Given the description of an element on the screen output the (x, y) to click on. 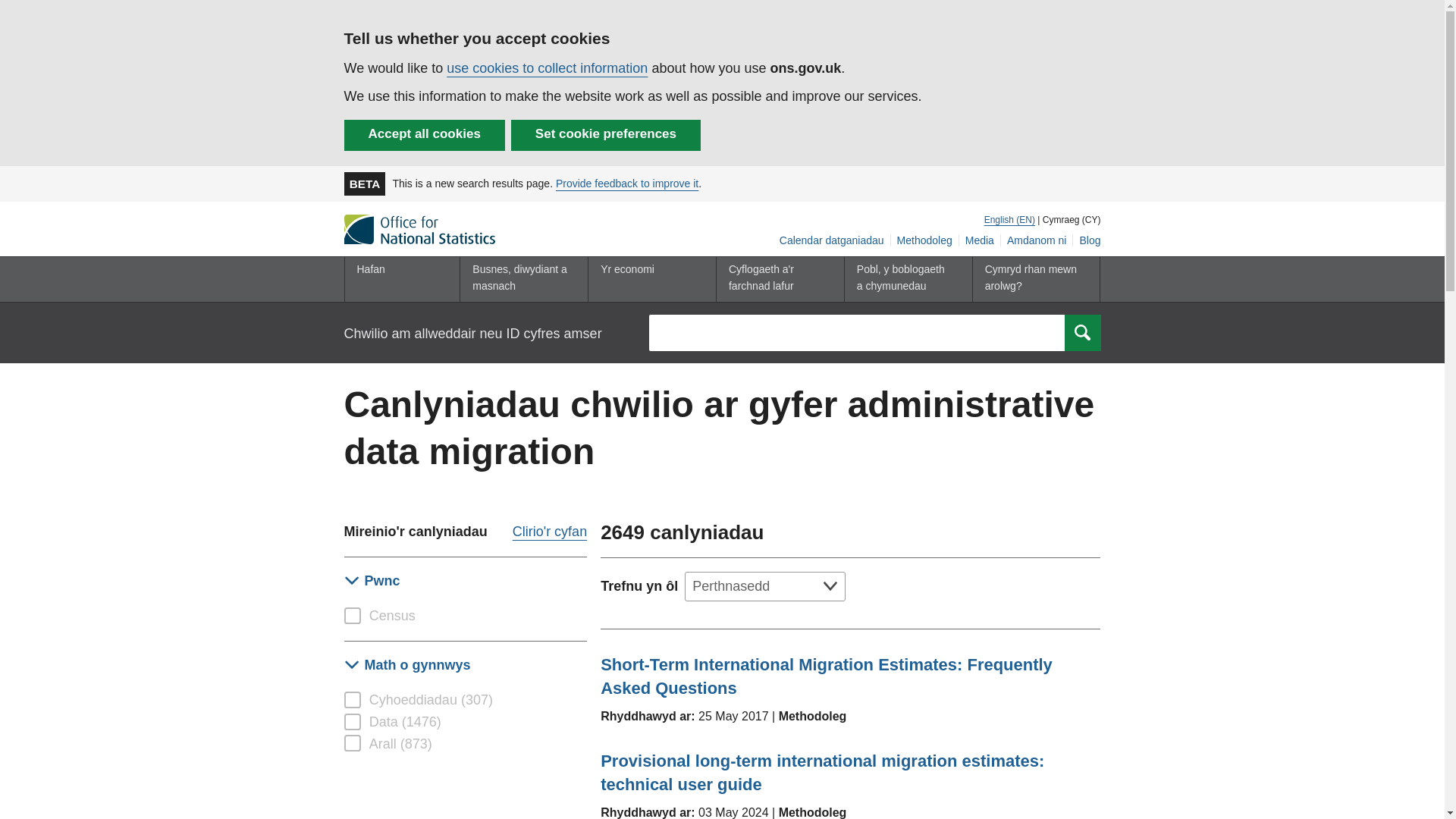
Hafan (397, 279)
Amdanom ni (1037, 240)
Methodoleg (925, 240)
Busnes, diwydiant a masnach (520, 279)
Yr economi (648, 279)
Calendar datganiadau (832, 240)
Accept all cookies (424, 135)
Media (980, 240)
Set cookie preferences (605, 135)
Cyflogaeth a'r farchnad lafur (776, 279)
7779 (352, 615)
Provide feedback to improve it (627, 183)
Pobl, y boblogaeth a chymunedau (904, 279)
use cookies to collect information (546, 68)
Blog (1086, 240)
